Given the description of an element on the screen output the (x, y) to click on. 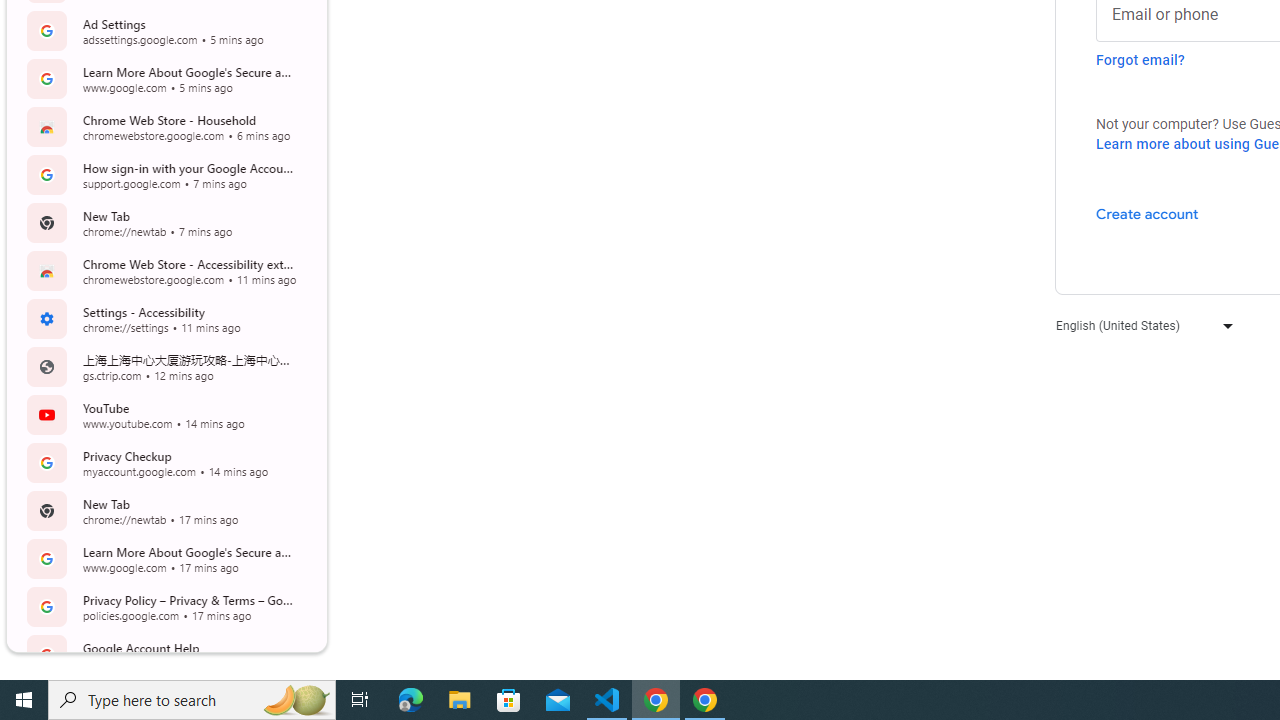
Google Chrome - 1 running window (704, 699)
Google Account Help support.google.com 17 mins ago Open Tab (164, 654)
File Explorer (460, 699)
Search highlights icon opens search home window (295, 699)
New Tab newtab 17 mins ago Open Tab (164, 510)
Visual Studio Code - 1 running window (607, 699)
YouTube www.youtube.com 14 mins ago Open Tab (164, 414)
Microsoft Edge (411, 699)
New Tab newtab 7 mins ago Open Tab (164, 222)
